Given the description of an element on the screen output the (x, y) to click on. 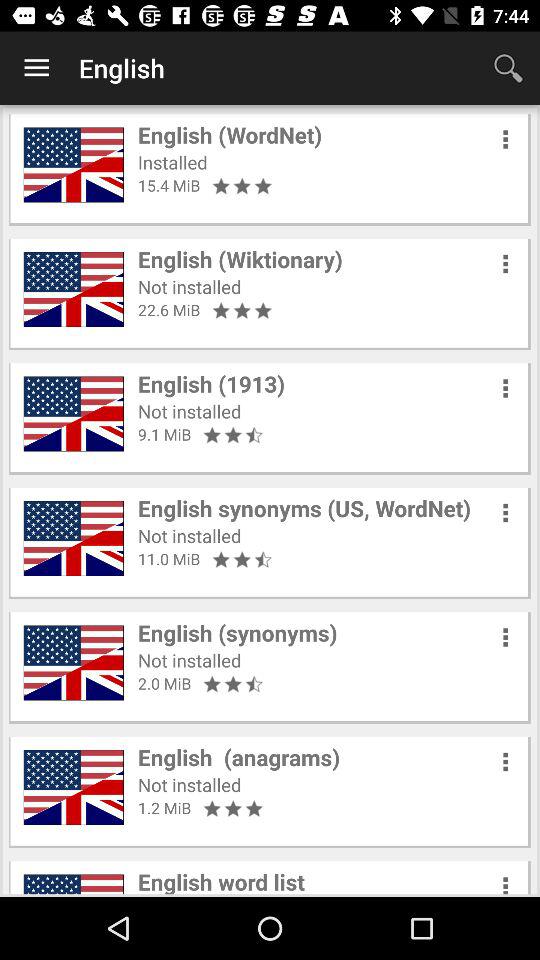
press english (1913) icon (211, 383)
